Given the description of an element on the screen output the (x, y) to click on. 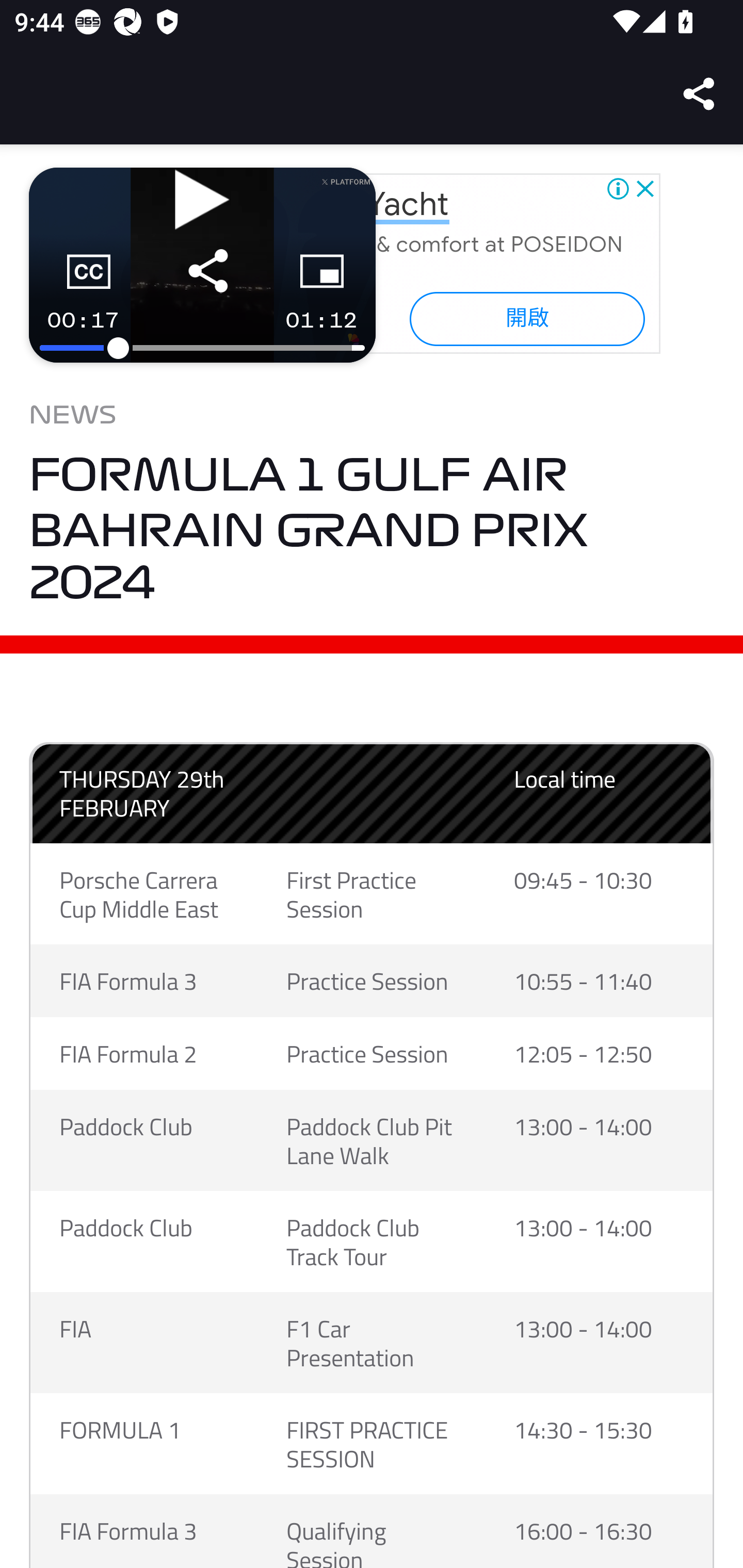
Share (699, 93)
開啟 (526, 318)
